Given the description of an element on the screen output the (x, y) to click on. 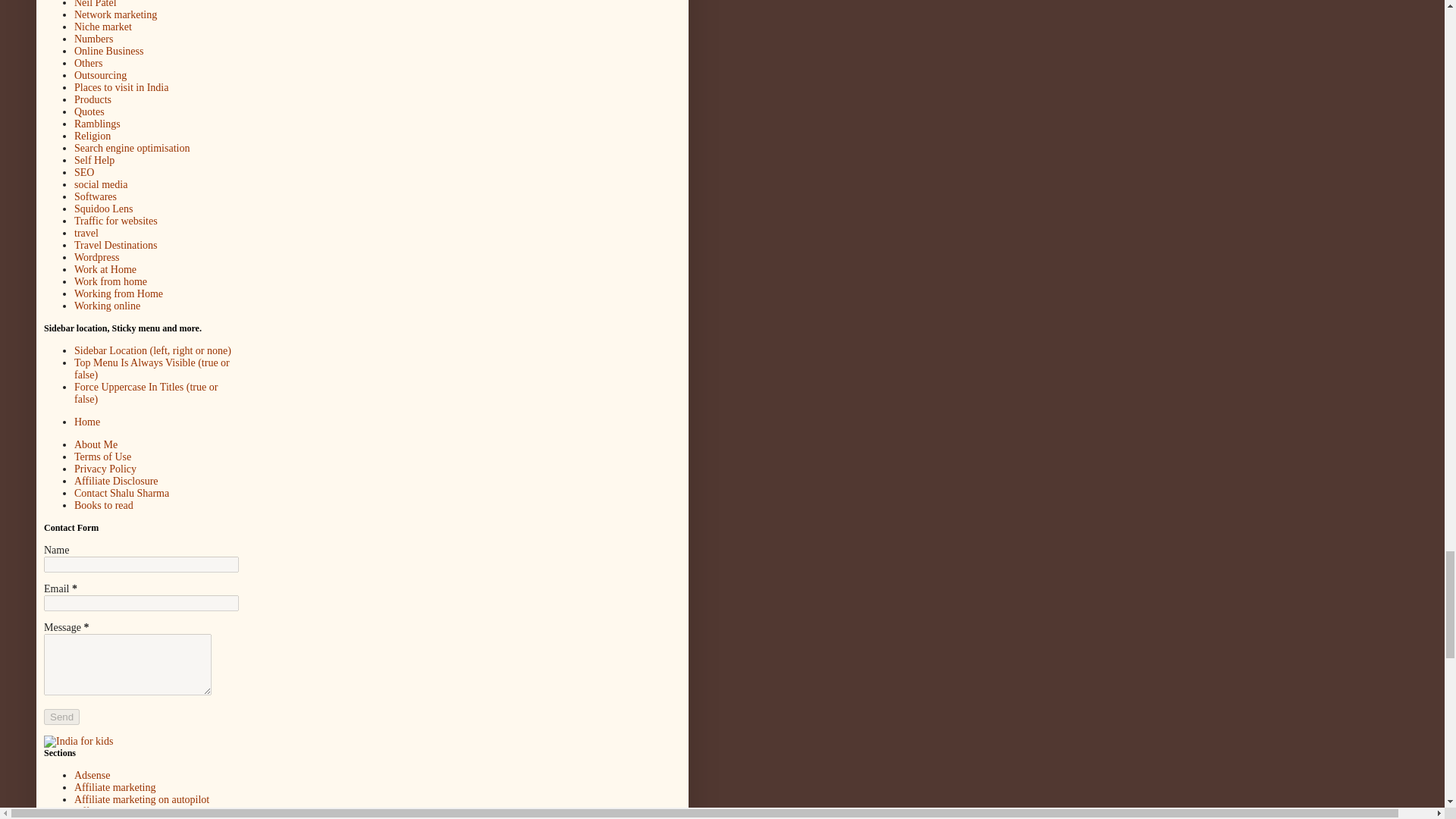
Send (61, 716)
